Given the description of an element on the screen output the (x, y) to click on. 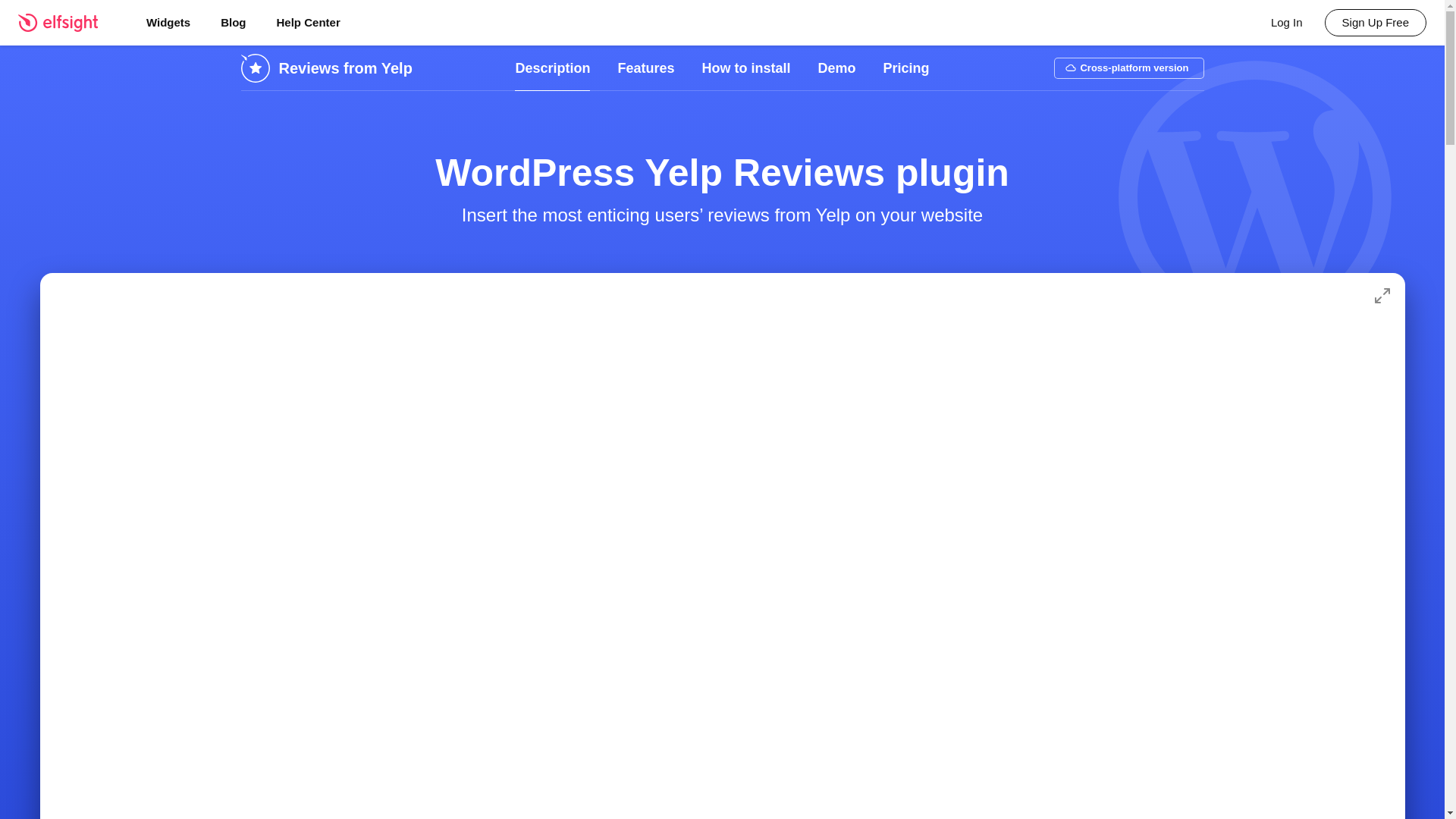
Widgets (168, 22)
Elfsight - Premium Plugins For Websites (66, 22)
Full Screen (1381, 295)
